Given the description of an element on the screen output the (x, y) to click on. 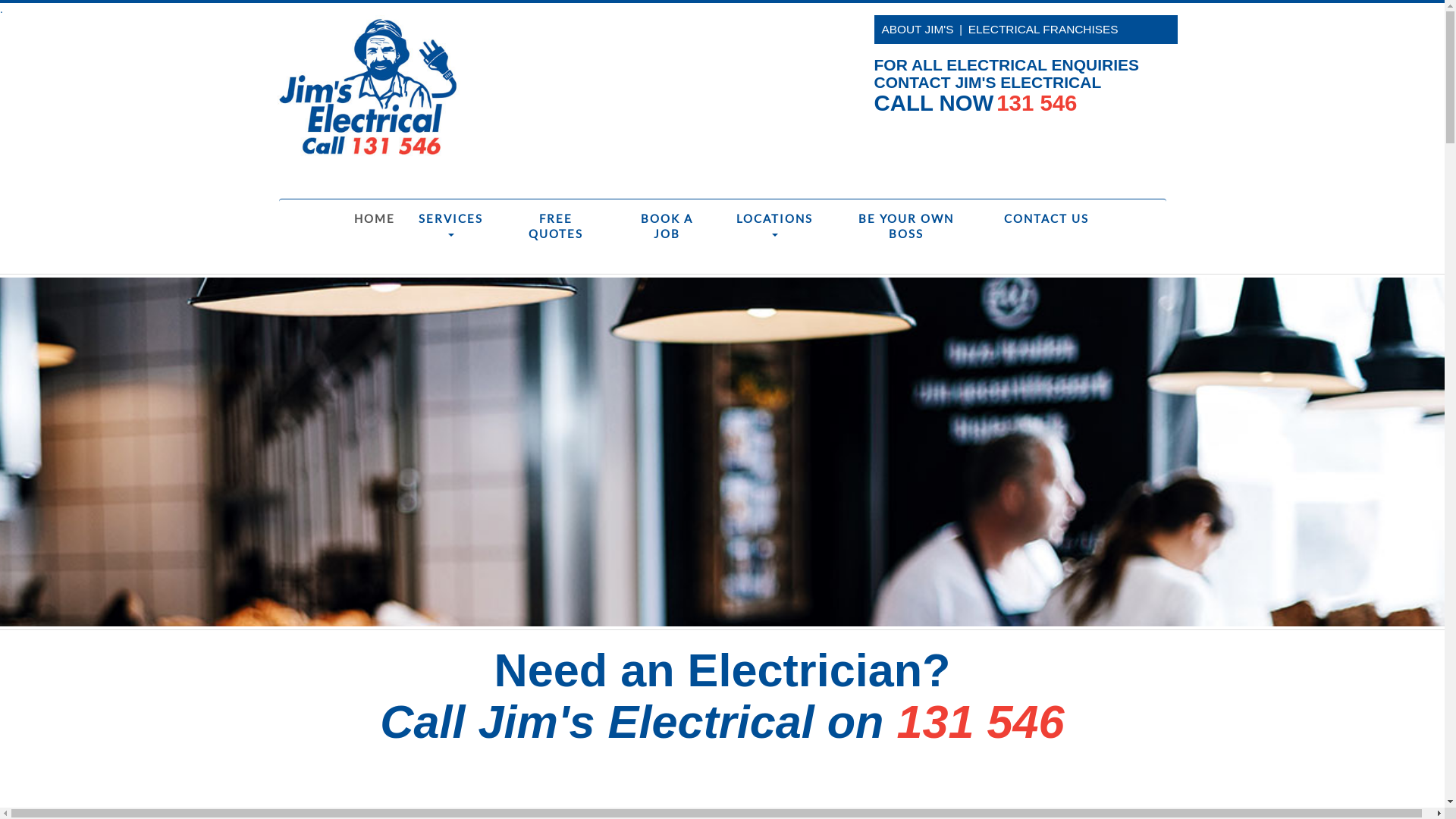
HOME Element type: text (371, 218)
131 546 Element type: text (979, 721)
BOOK A JOB Element type: text (665, 225)
FREE QUOTES Element type: text (556, 225)
ABOUT JIM'S Element type: text (917, 28)
SERVICES Element type: text (450, 225)
CONTACT US Element type: text (1039, 218)
BE YOUR OWN BOSS Element type: text (905, 225)
ELECTRICAL FRANCHISES Element type: text (1043, 28)
LOCATIONS Element type: text (774, 225)
131 546 Element type: text (1036, 106)
